Given the description of an element on the screen output the (x, y) to click on. 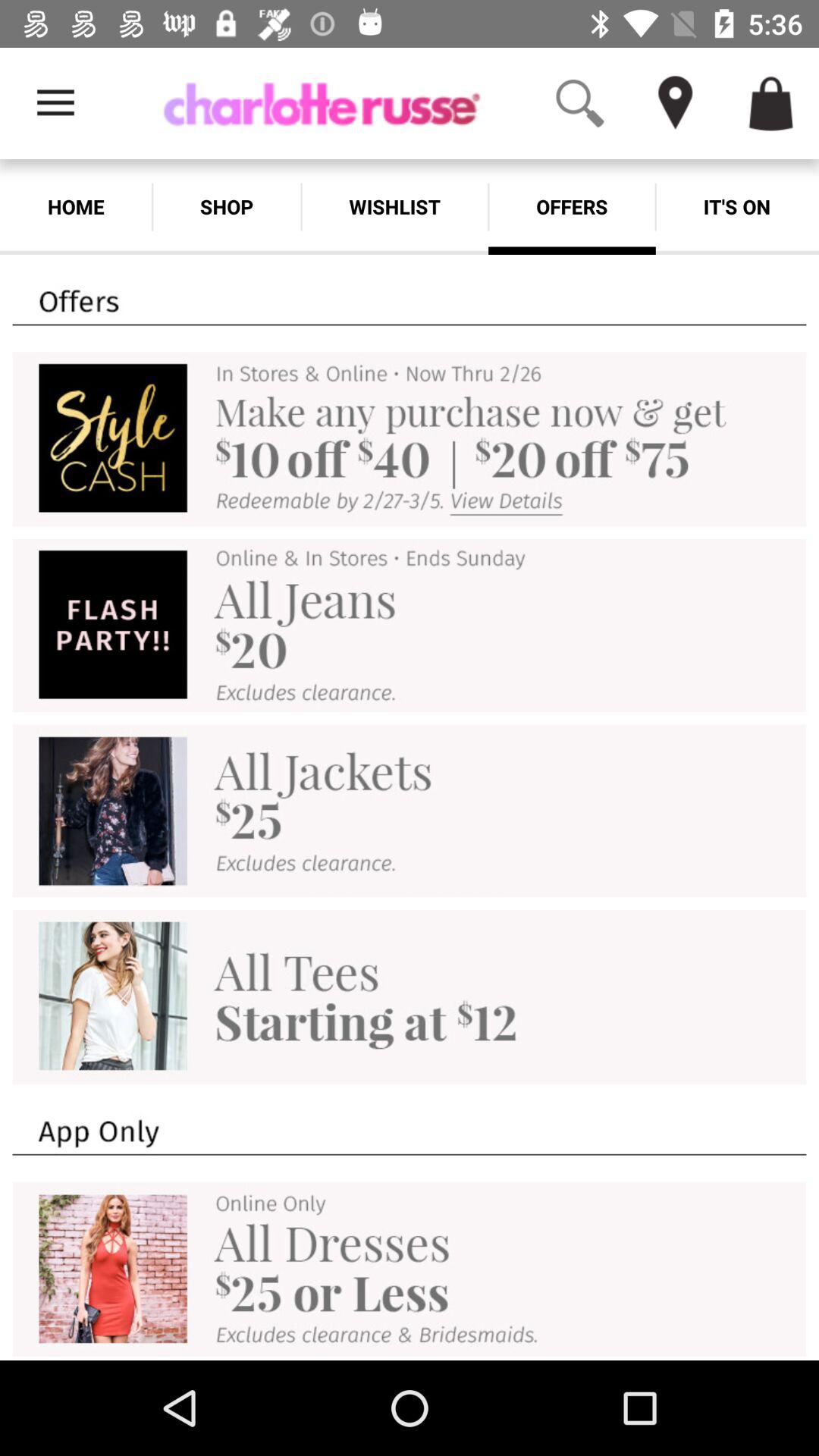
choose the offers (571, 206)
